Given the description of an element on the screen output the (x, y) to click on. 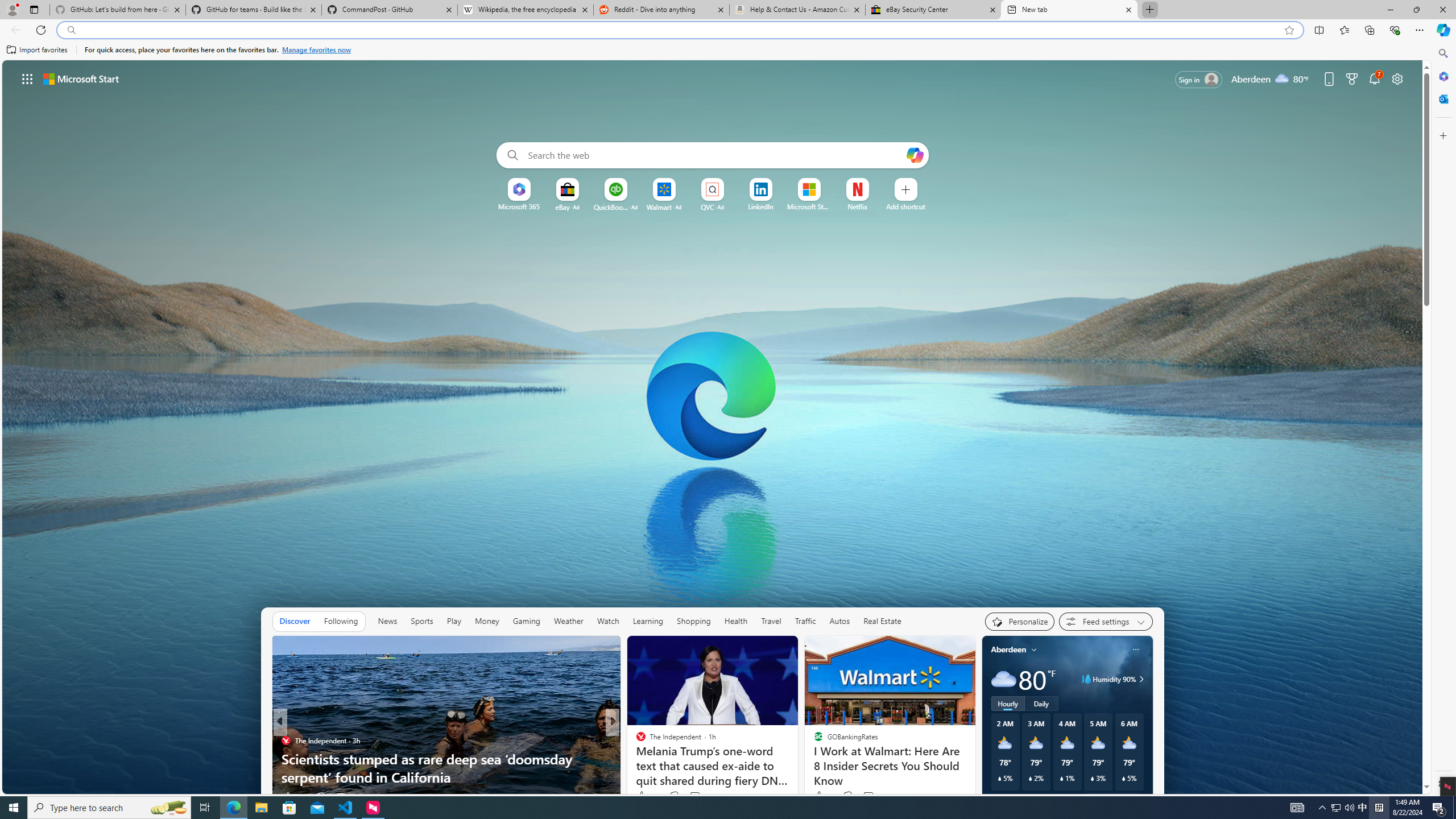
View comments 237 Comment (691, 797)
Help & Contact Us - Amazon Customer Service - Sleeping (797, 9)
My location (1033, 649)
eBay Security Center (933, 9)
173 Like (643, 796)
View comments 54 Comment (696, 796)
Learning (648, 621)
450 Like (643, 796)
Shopping (693, 621)
View comments 27 Comment (345, 796)
